Given the description of an element on the screen output the (x, y) to click on. 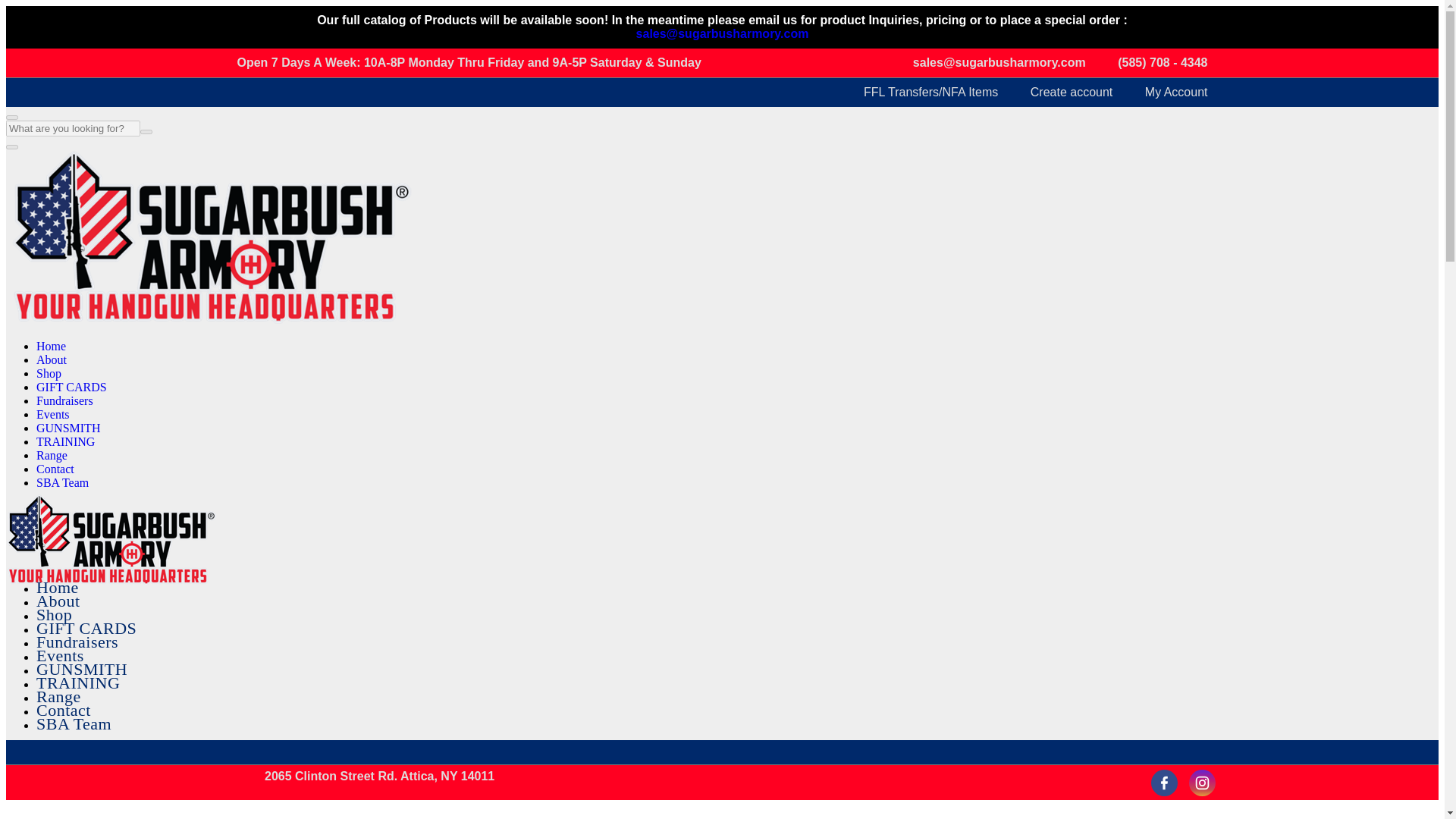
About (58, 600)
About (51, 359)
Home (57, 587)
Create account (1062, 92)
TRAINING (77, 682)
Shop (53, 614)
Home (50, 345)
TRAINING (65, 440)
Events (52, 413)
Range (51, 454)
GIFT CARDS (71, 386)
Fundraisers (64, 400)
Fundraisers (76, 641)
2065 Clinton Street Rd. Attica, NY 14011 (371, 775)
SBA Team (62, 481)
